Given the description of an element on the screen output the (x, y) to click on. 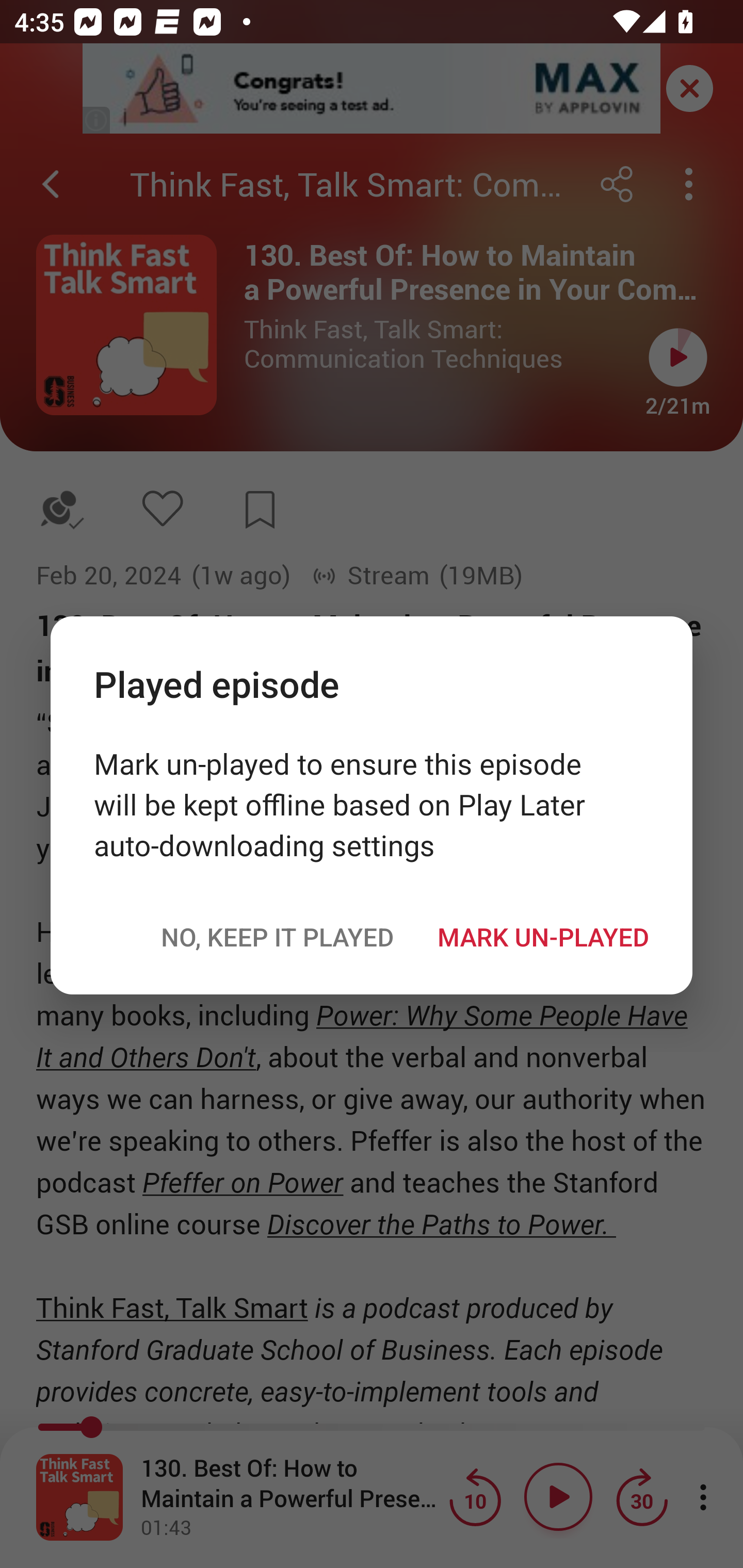
NO, KEEP IT PLAYED (276, 936)
MARK UN-PLAYED (542, 936)
